Given the description of an element on the screen output the (x, y) to click on. 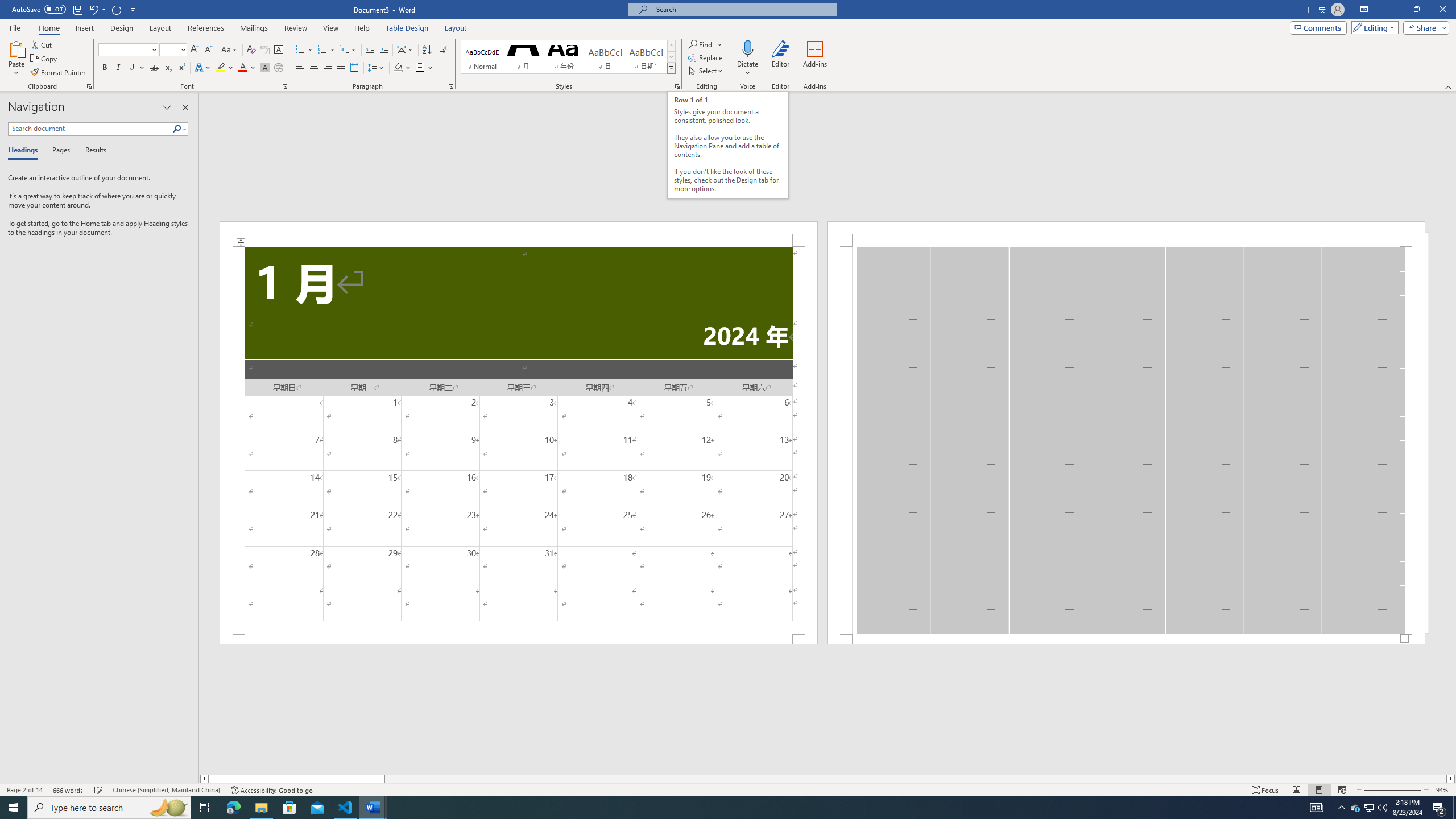
Column left (203, 778)
